Given the description of an element on the screen output the (x, y) to click on. 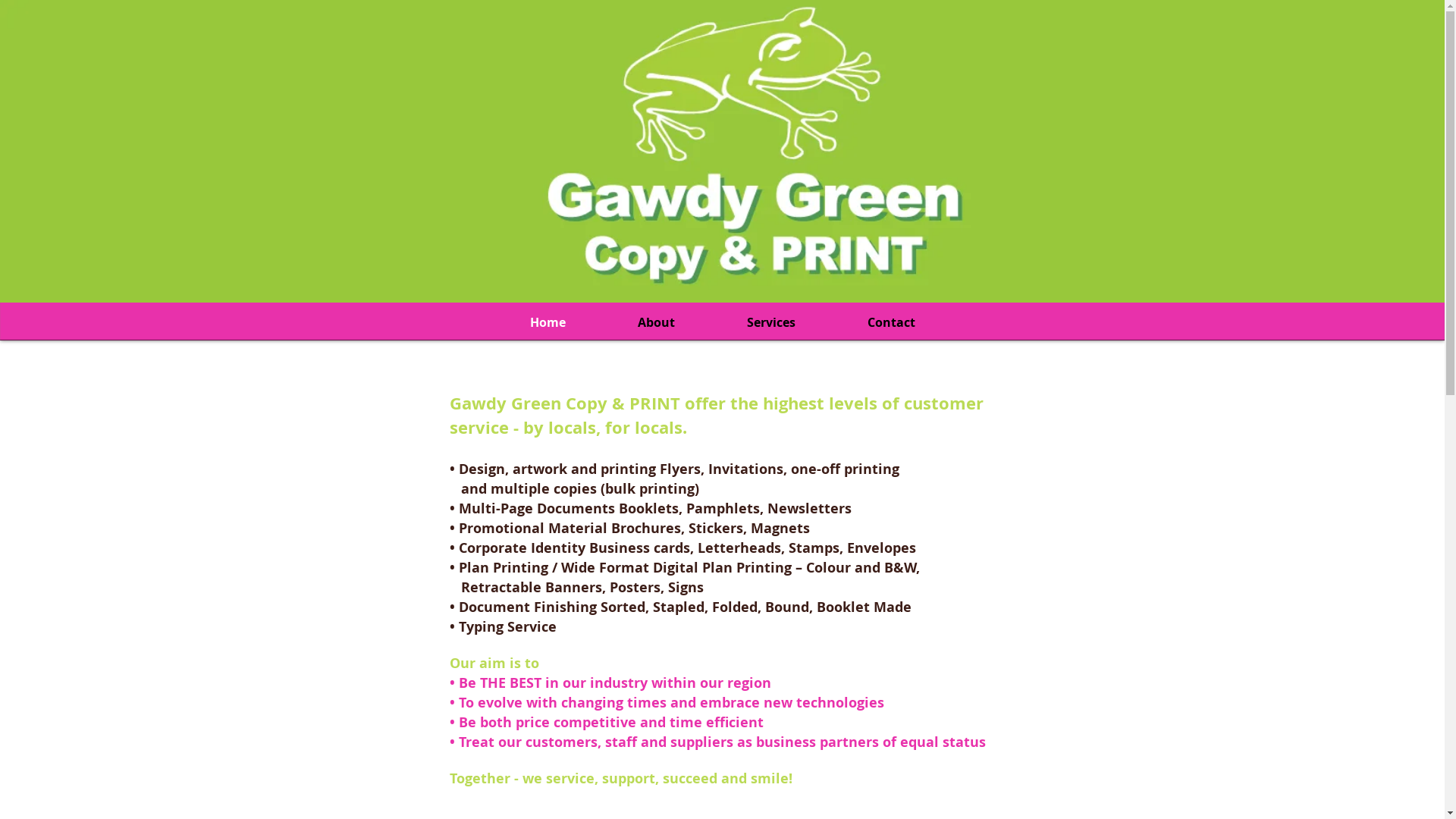
About Element type: text (656, 322)
Services Element type: text (771, 322)
Contact Element type: text (890, 322)
Home Element type: text (548, 322)
